Given the description of an element on the screen output the (x, y) to click on. 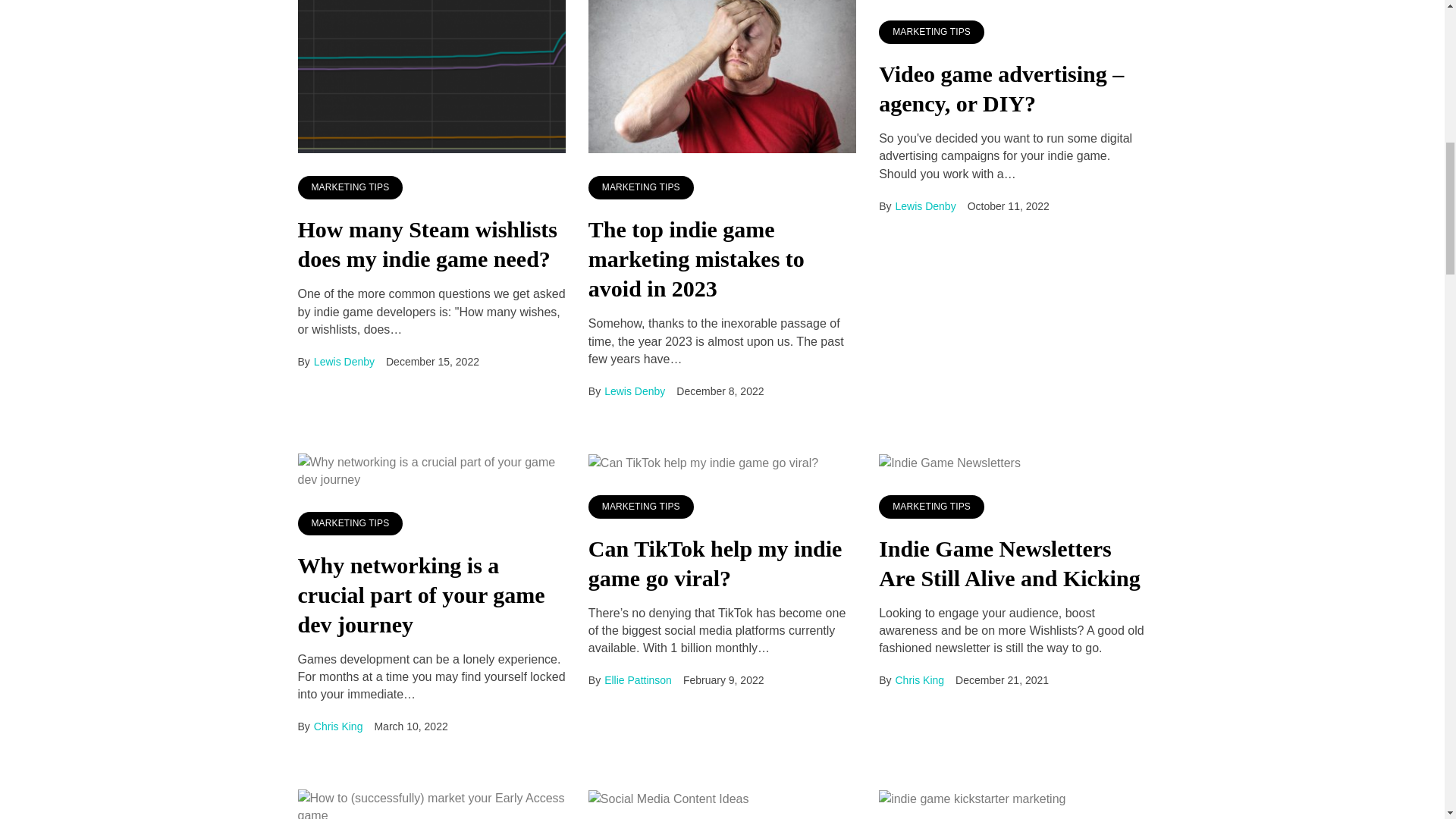
MARKETING TIPS (641, 187)
 steam wishlists indie game  (430, 76)
MARKETING TIPS (350, 187)
Posts by Lewis Denby (634, 390)
 Indie Game Newsletters  (949, 462)
Posts by Chris King (338, 726)
Posts by Lewis Denby (925, 205)
Posts by Ellie Pattinson (637, 680)
Lewis Denby (634, 390)
Lewis Denby (344, 361)
How many Steam wishlists does my indie game need? (427, 244)
The top indie game marketing mistakes to avoid in 2023 (696, 259)
 TikTokViral  (703, 462)
 networking  (430, 470)
 indie-game-marketing-2023  (722, 76)
